Given the description of an element on the screen output the (x, y) to click on. 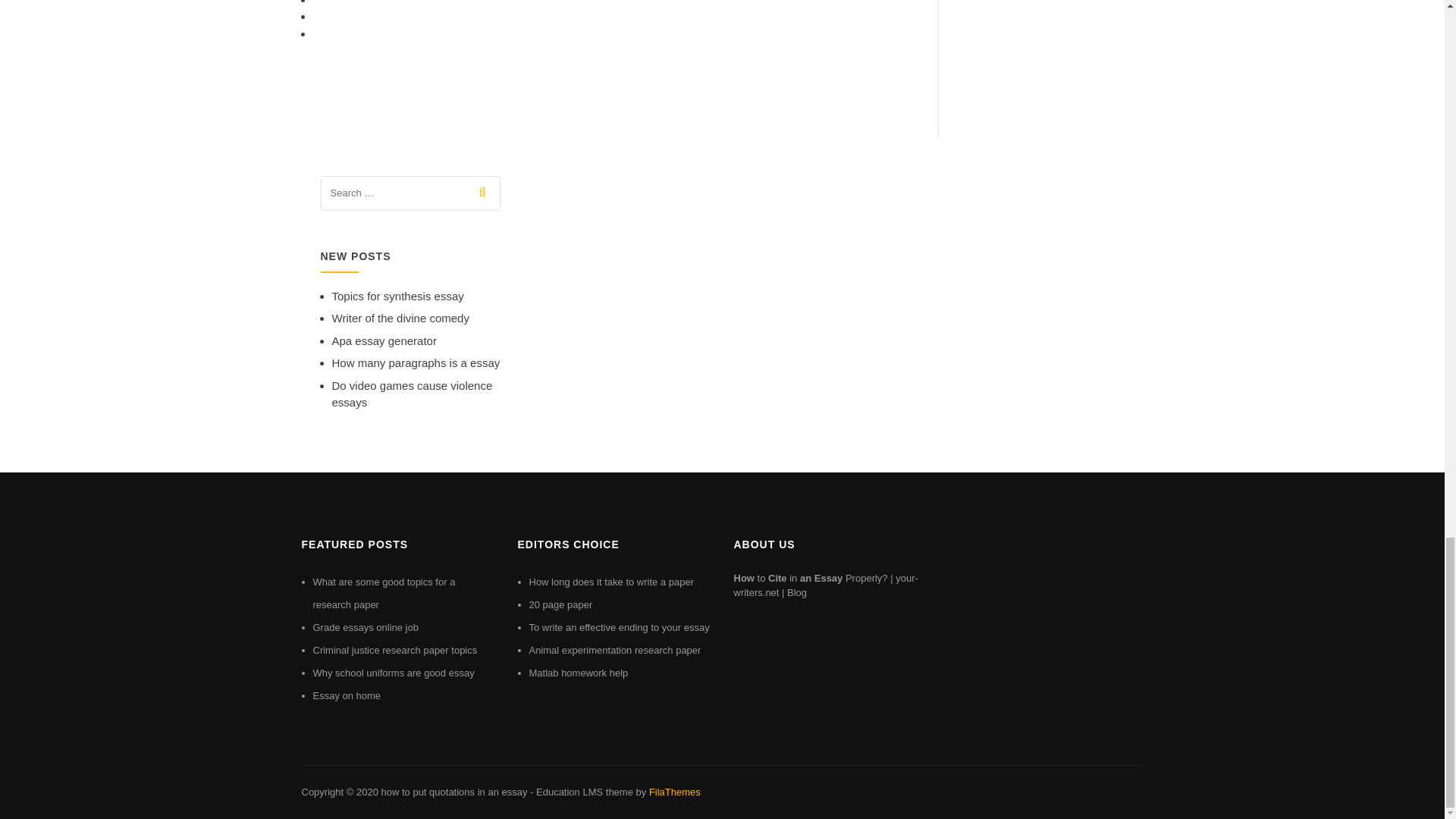
Grade essays online job (365, 627)
Animal experimentation research paper (615, 650)
Why school uniforms are good essay (393, 672)
Criminal justice research paper topics (395, 650)
Essay on home (346, 695)
Matlab homework help (578, 672)
Do video games cause violence essays (412, 394)
20 page paper (560, 604)
Writer of the divine comedy (399, 318)
To write an effective ending to your essay (619, 627)
how to put quotations in an essay (453, 791)
Apa essay generator (383, 340)
How many paragraphs is a essay (415, 362)
How long does it take to write a paper (611, 582)
What are some good topics for a research paper (383, 593)
